Given the description of an element on the screen output the (x, y) to click on. 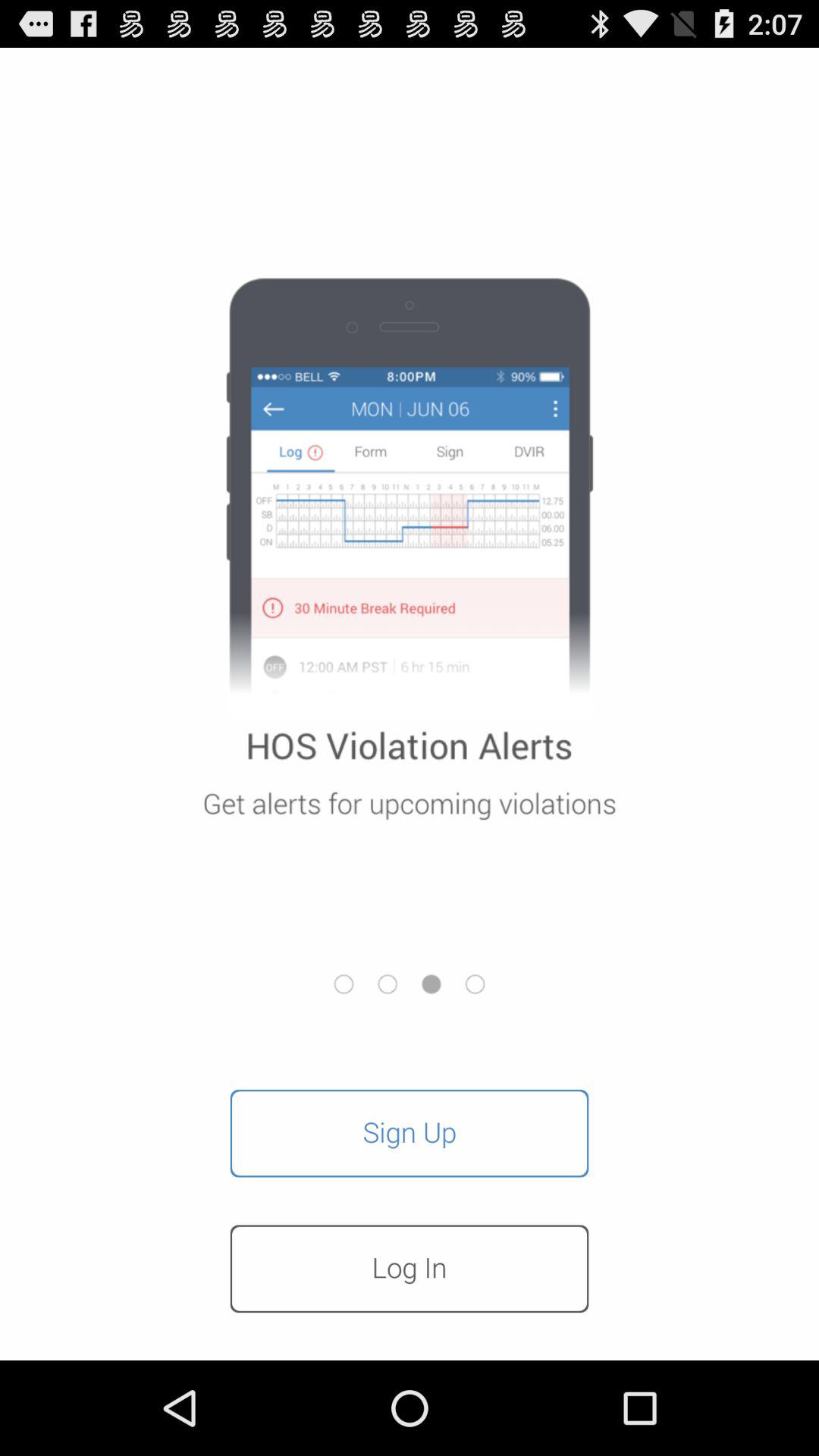
tap the sign up (409, 1133)
